Given the description of an element on the screen output the (x, y) to click on. 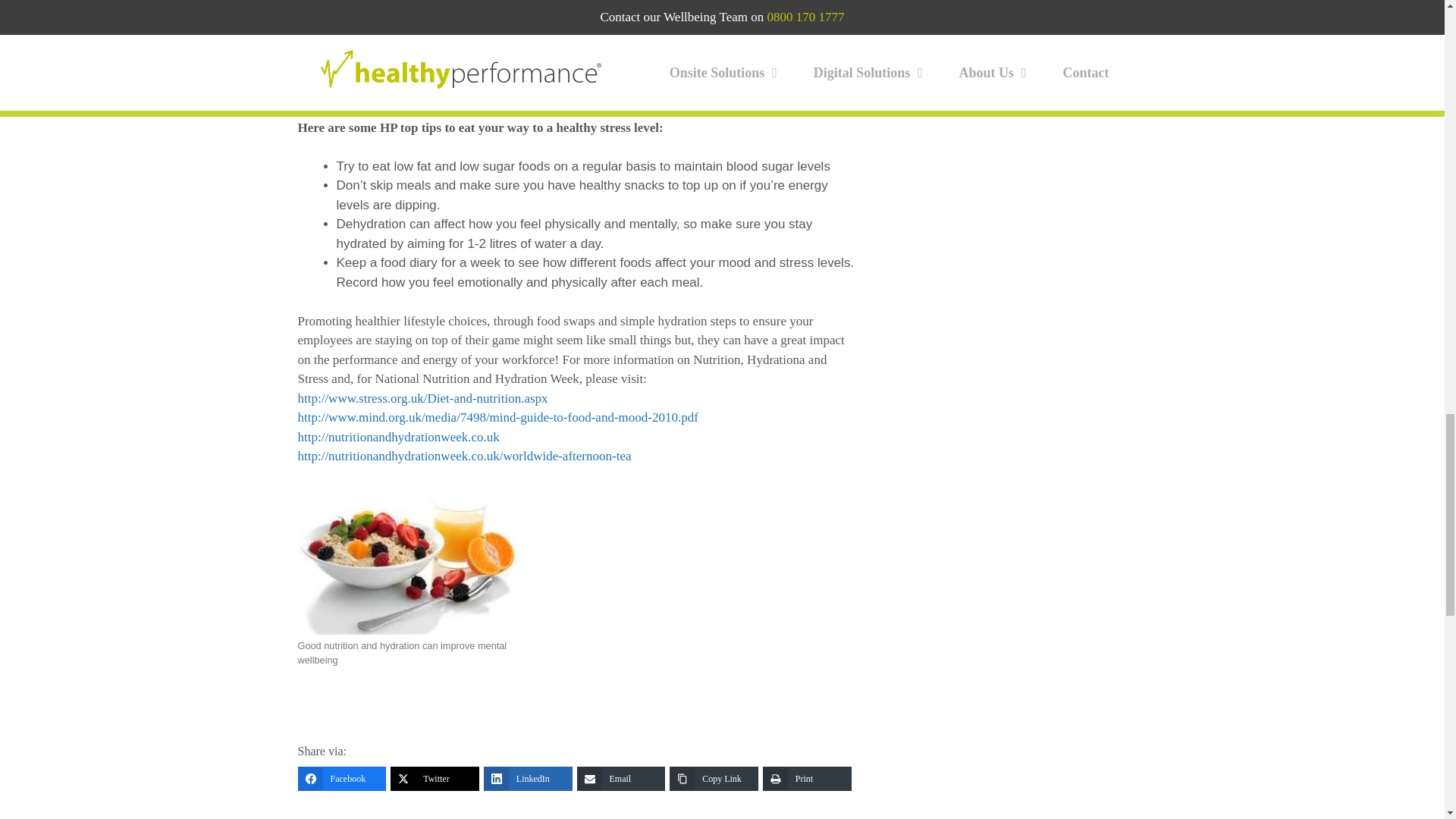
Twitter (434, 778)
Email (620, 778)
LinkedIn (527, 778)
Facebook (341, 778)
Copy Link (713, 778)
